Given the description of an element on the screen output the (x, y) to click on. 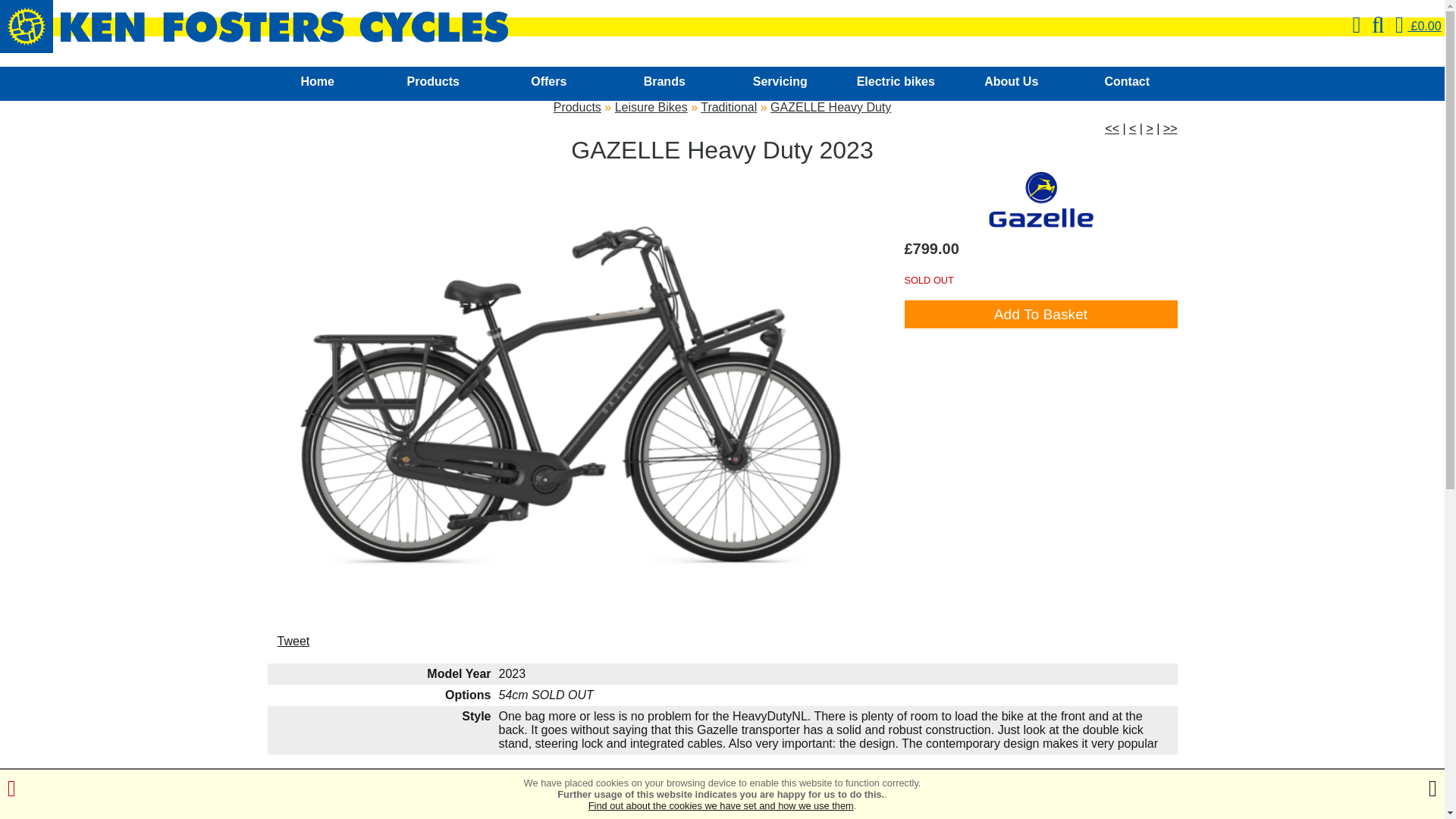
GAZELLE Heavy Duty (830, 106)
Special Offers (549, 83)
Traditional (728, 106)
Add To Basket (1040, 313)
Offers (549, 83)
Electric bikes  (895, 83)
About Us (1011, 83)
Servicing (780, 83)
Home (317, 83)
About Us (1011, 83)
Contact Us (1126, 83)
Tweet (294, 640)
Servicing (780, 83)
Add To Basket (1040, 313)
Home (317, 83)
